Given the description of an element on the screen output the (x, y) to click on. 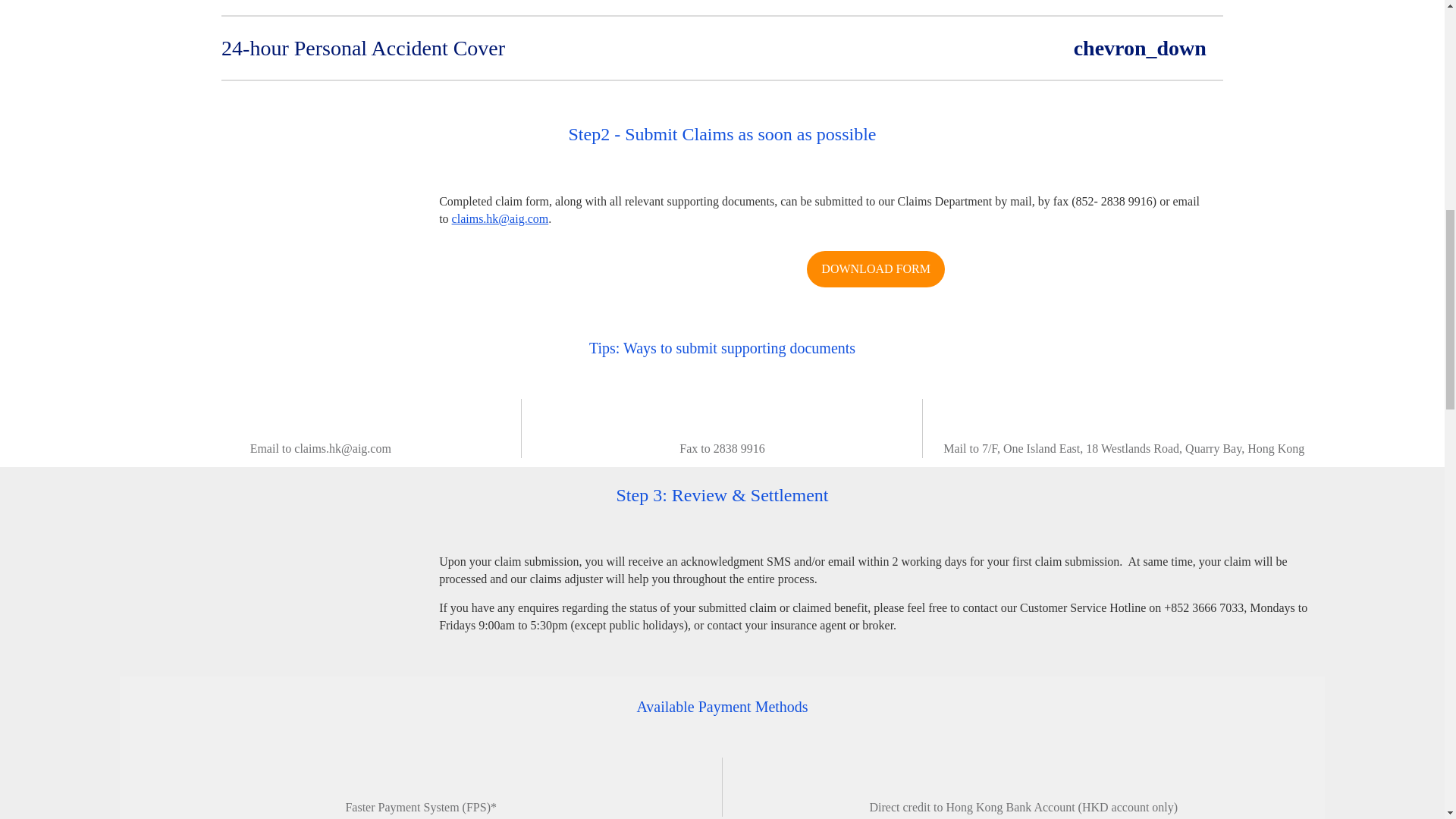
24-hour Personal Accident Cover (714, 48)
DOWNLOAD FORM (875, 268)
